Given the description of an element on the screen output the (x, y) to click on. 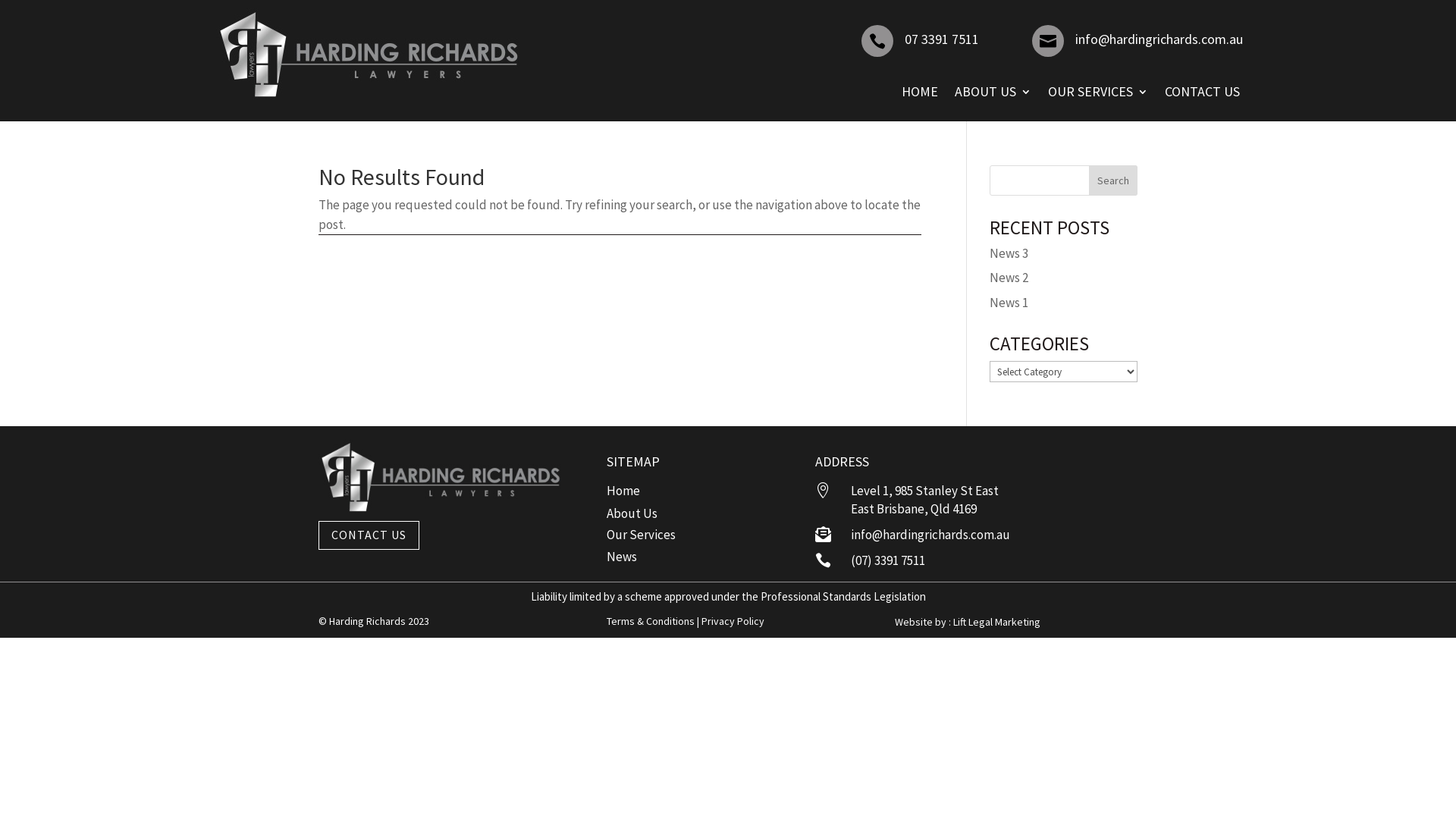
Terms & Conditions  Element type: text (651, 620)
News 3 Element type: text (1008, 252)
ABOUT US Element type: text (992, 91)
Lift Legal Marketing Element type: text (996, 621)
Search Element type: text (1112, 180)
info@hardingrichards.com.au Element type: text (1158, 38)
CONTACT US Element type: text (1201, 91)
HOME Element type: text (919, 91)
Logo NEW Element type: hover (439, 475)
OUR SERVICES Element type: text (1098, 91)
News 2 Element type: text (1008, 277)
07 3391 7511 Element type: text (941, 38)
News 1 Element type: text (1008, 302)
CONTACT US Element type: text (368, 534)
Privacy Policy Element type: text (731, 620)
